Given the description of an element on the screen output the (x, y) to click on. 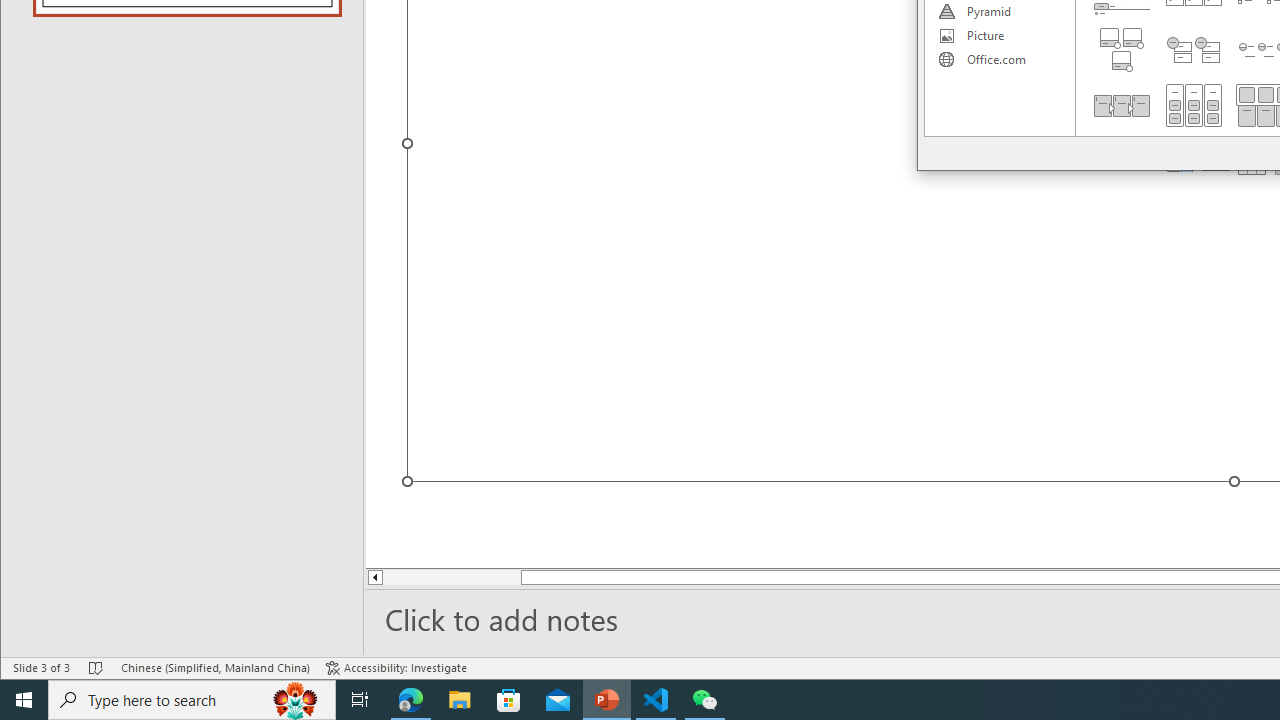
Pyramid (999, 11)
Bending Picture Accent List (1121, 49)
Picture (999, 35)
Detailed Process (1121, 105)
Office.com (999, 60)
WeChat - 1 running window (704, 699)
Stacked List (1194, 49)
